Given the description of an element on the screen output the (x, y) to click on. 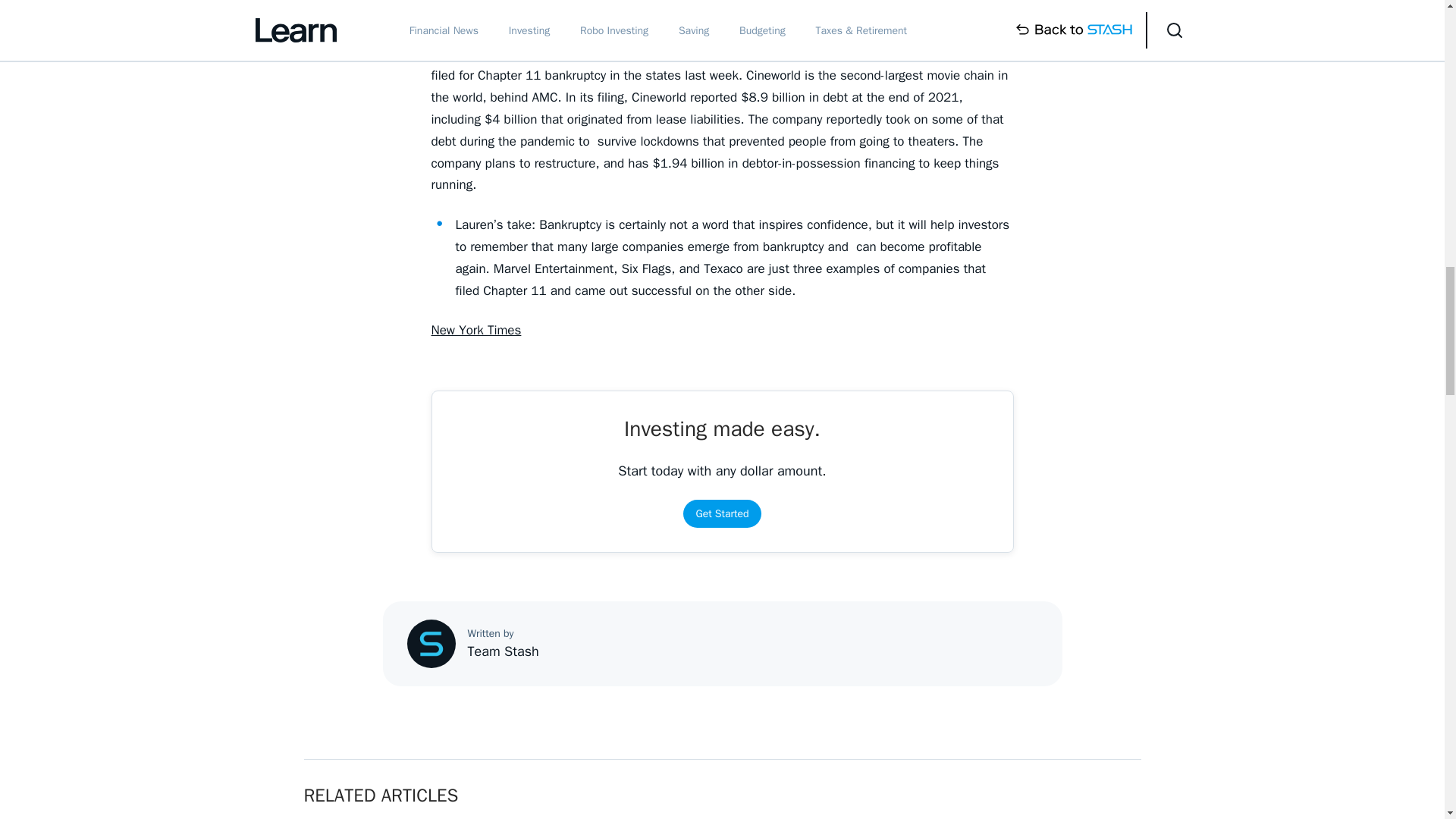
Get Started (721, 513)
CNBC (446, 13)
New York Times (475, 330)
